Given the description of an element on the screen output the (x, y) to click on. 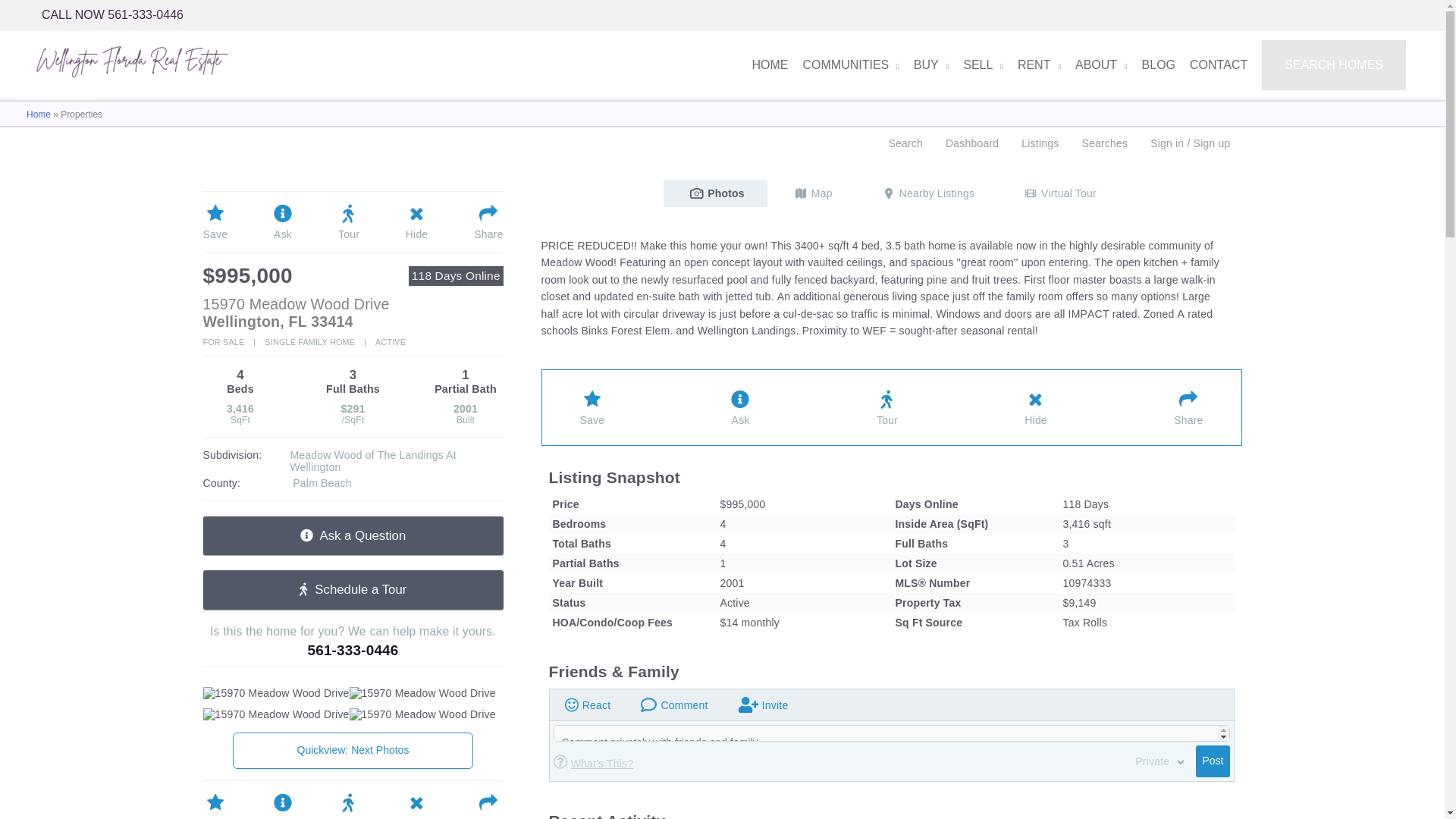
Properties (276, 714)
Properties (422, 693)
COMMUNITIES (845, 65)
HOME (764, 65)
CALL NOW 561-333-0446 (112, 15)
BUY (925, 65)
RENT (1034, 65)
SELL (978, 65)
Properties (422, 714)
Properties (276, 693)
